Given the description of an element on the screen output the (x, y) to click on. 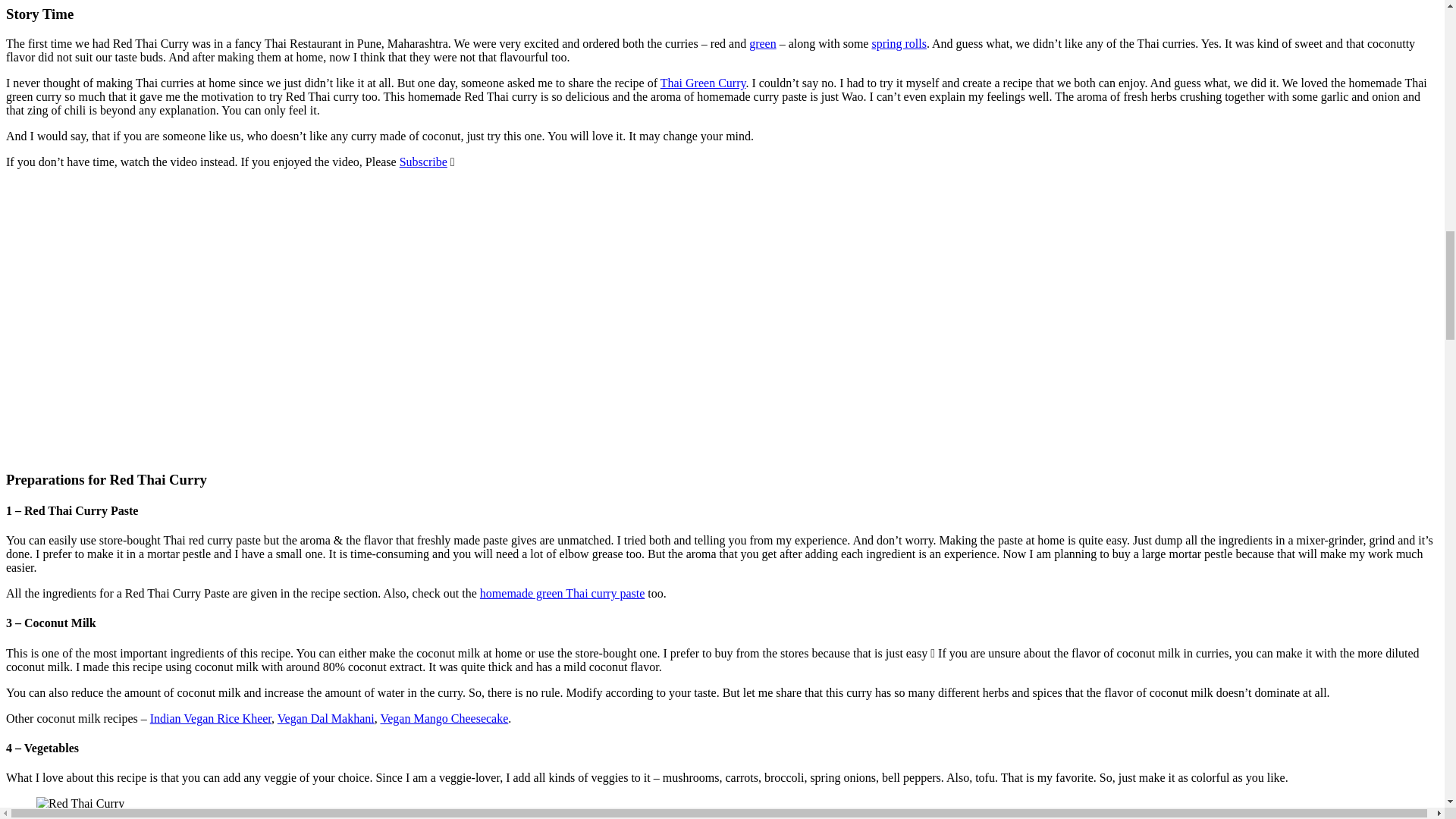
Vegan Dal Makhani (326, 717)
green (762, 42)
spring rolls (898, 42)
Subscribe (422, 161)
Vegan Mango Cheesecake (444, 717)
homemade green Thai curry paste (562, 593)
Thai Green Curry (703, 82)
Indian Vegan Rice Kheer (209, 717)
